Given the description of an element on the screen output the (x, y) to click on. 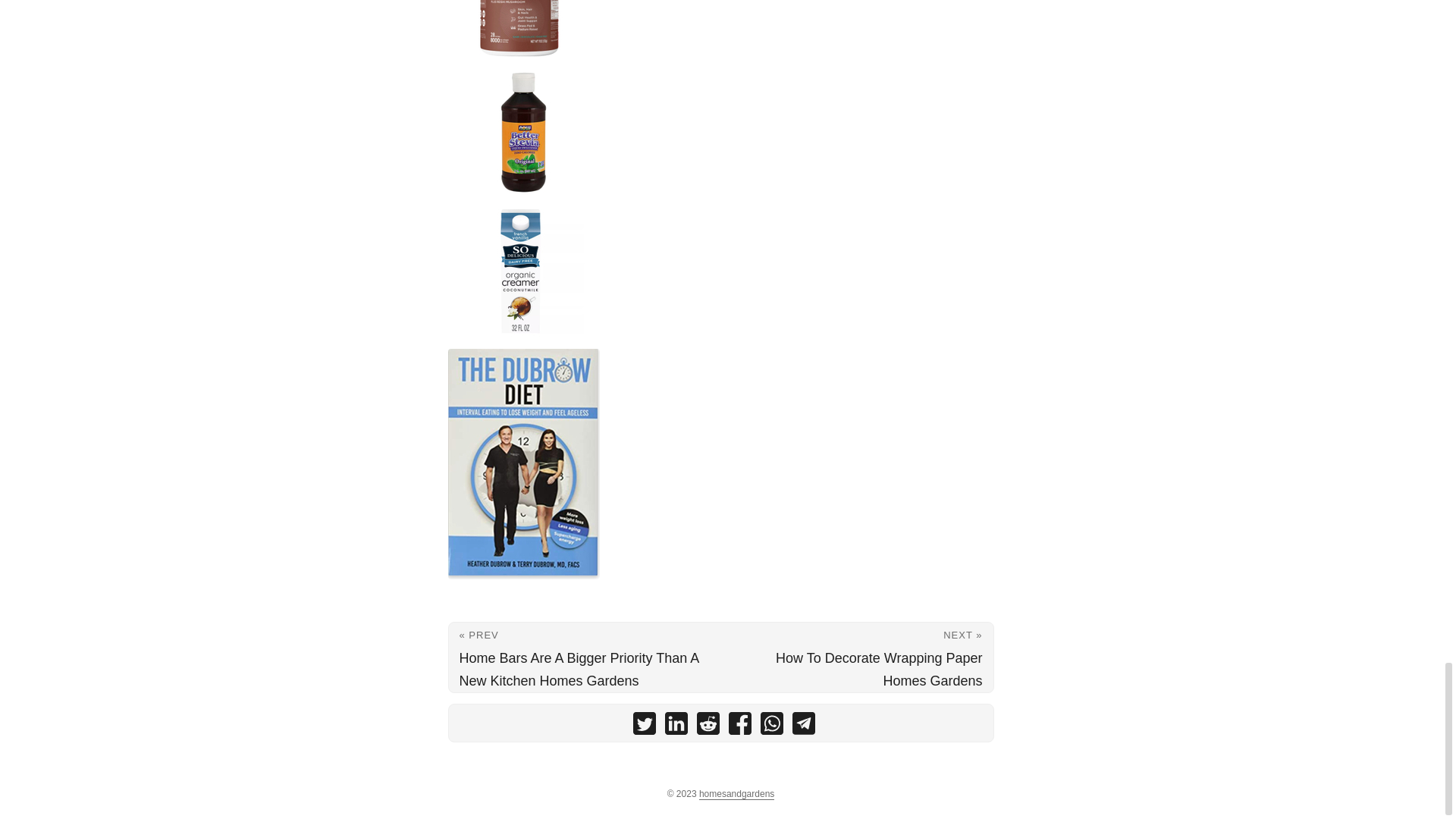
homesandgardens (736, 794)
